Given the description of an element on the screen output the (x, y) to click on. 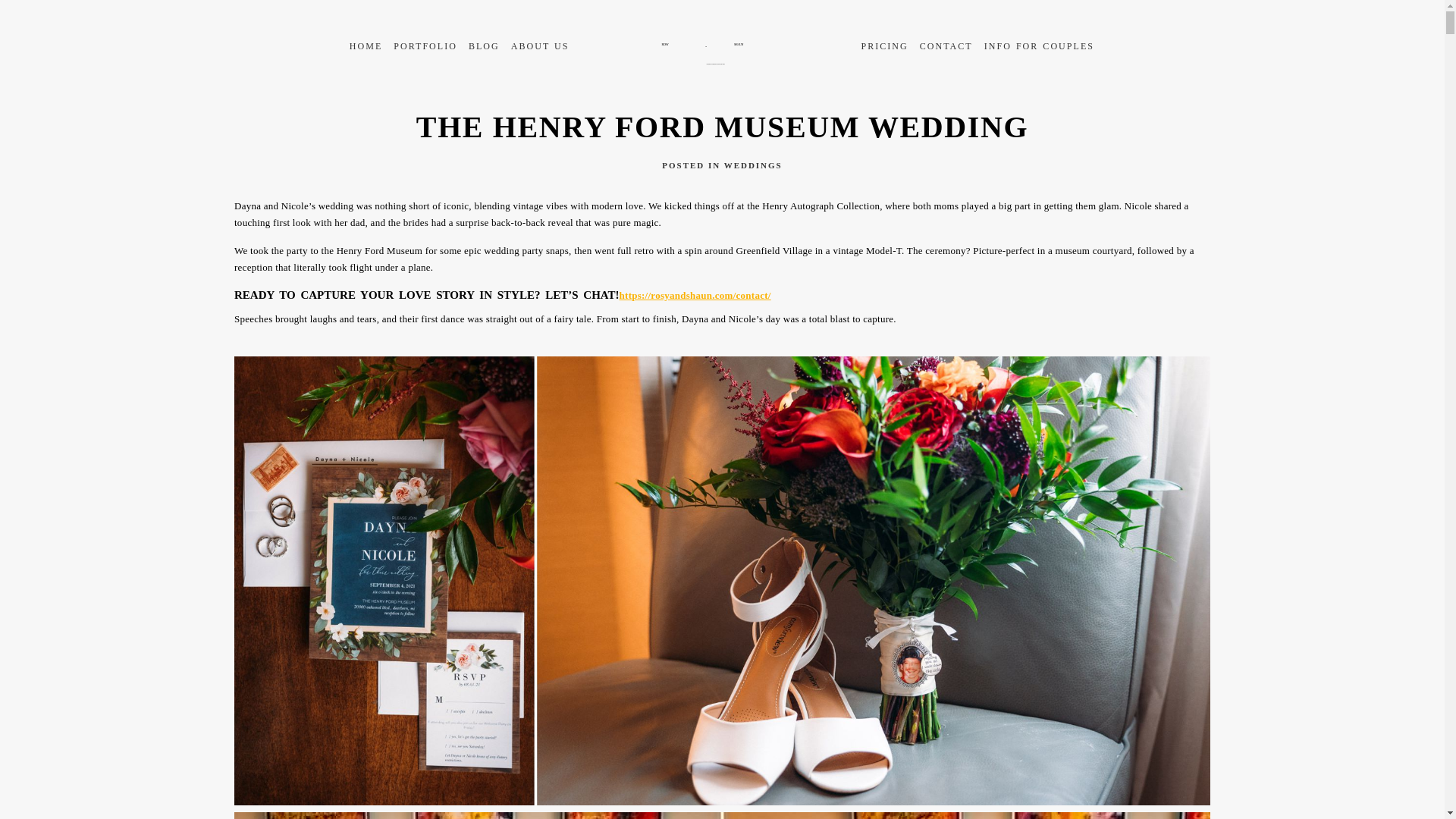
PRICING (883, 45)
WEDDINGS (753, 164)
PORTFOLIO (425, 45)
HOME (365, 45)
ABOUT US (540, 45)
CONTACT (946, 45)
INFO FOR COUPLES (1039, 45)
BLOG (483, 45)
